Given the description of an element on the screen output the (x, y) to click on. 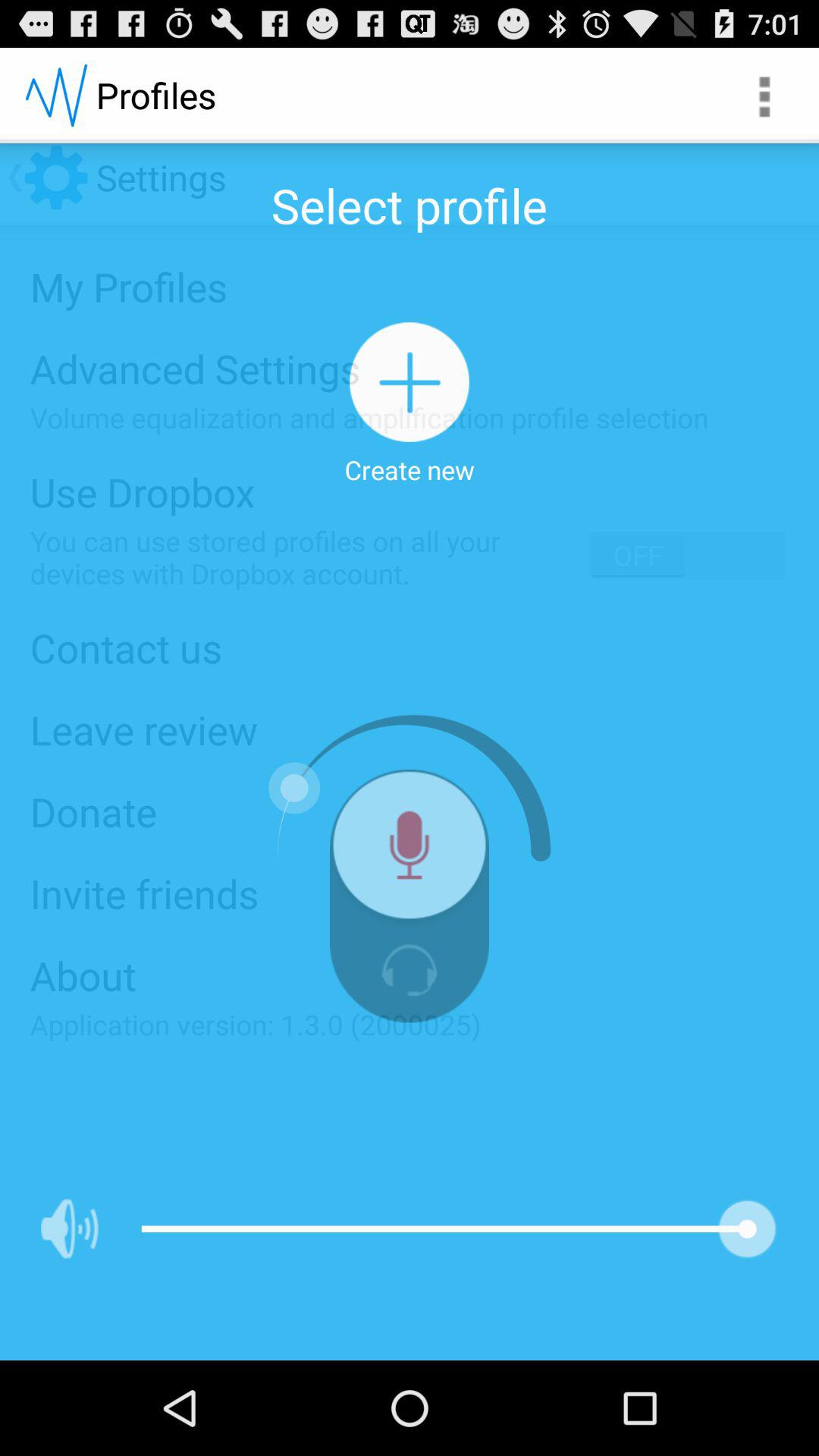
choose the item at the top right corner (763, 95)
